Given the description of an element on the screen output the (x, y) to click on. 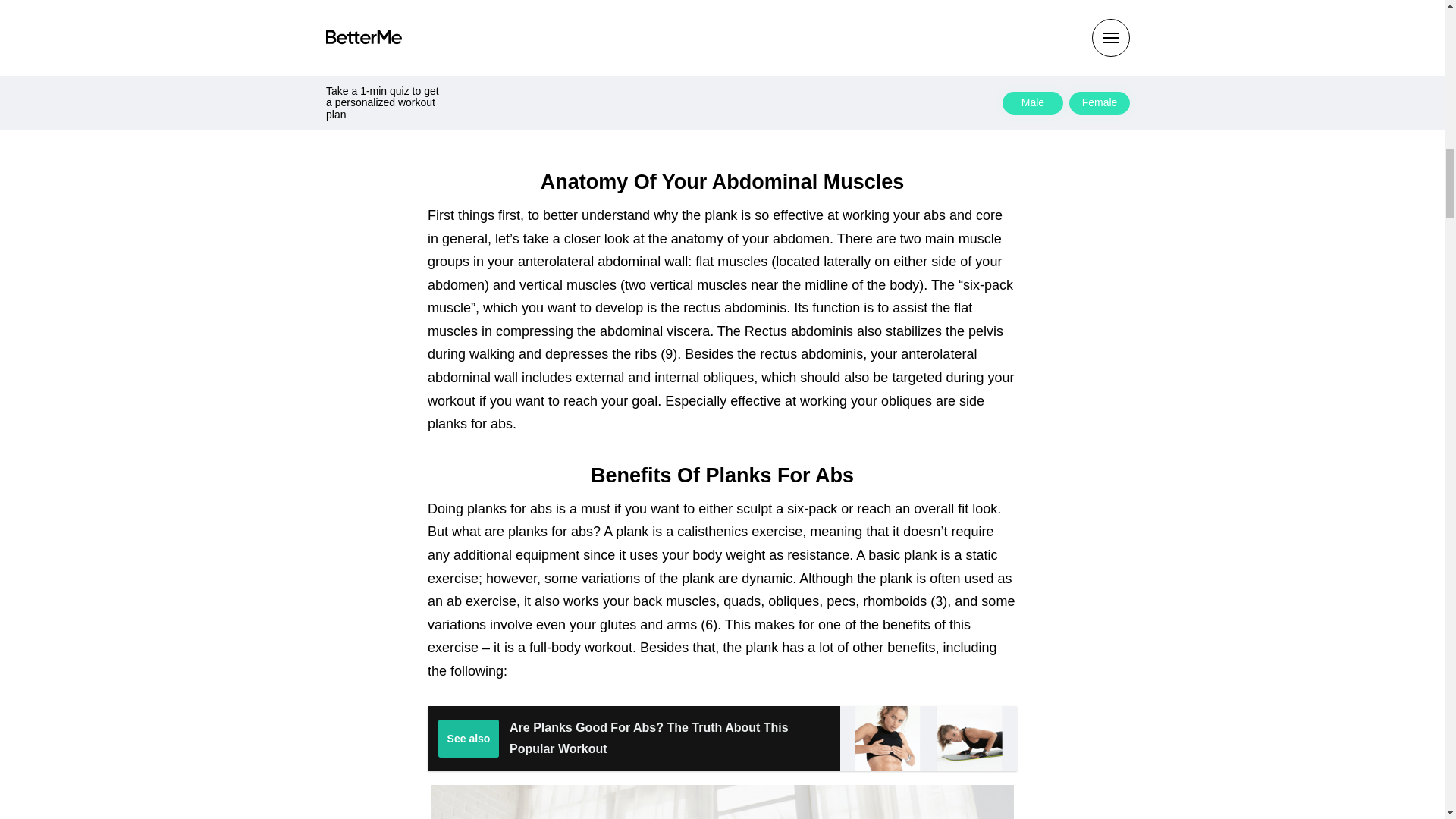
side planks (706, 412)
other benefits (891, 647)
